Given the description of an element on the screen output the (x, y) to click on. 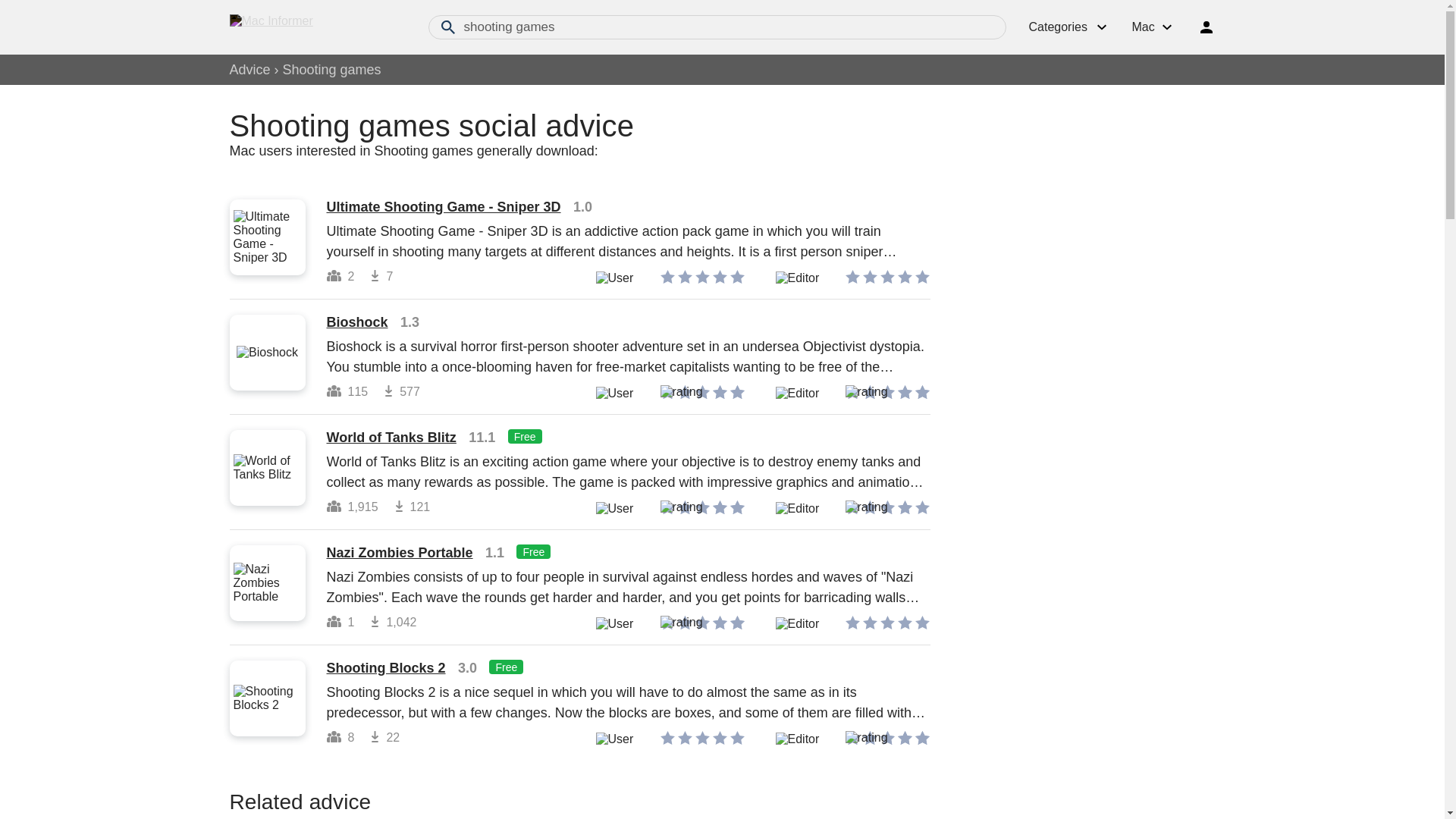
Ultimate Shooting Game - Sniper 3D (443, 206)
Search (447, 27)
Advice (248, 69)
Nazi Zombies Portable (398, 552)
Software downloads and reviews (312, 26)
Advice (248, 69)
Bioshock (356, 322)
World of Tanks Blitz (390, 437)
Shooting Blocks 2 (385, 667)
